Given the description of an element on the screen output the (x, y) to click on. 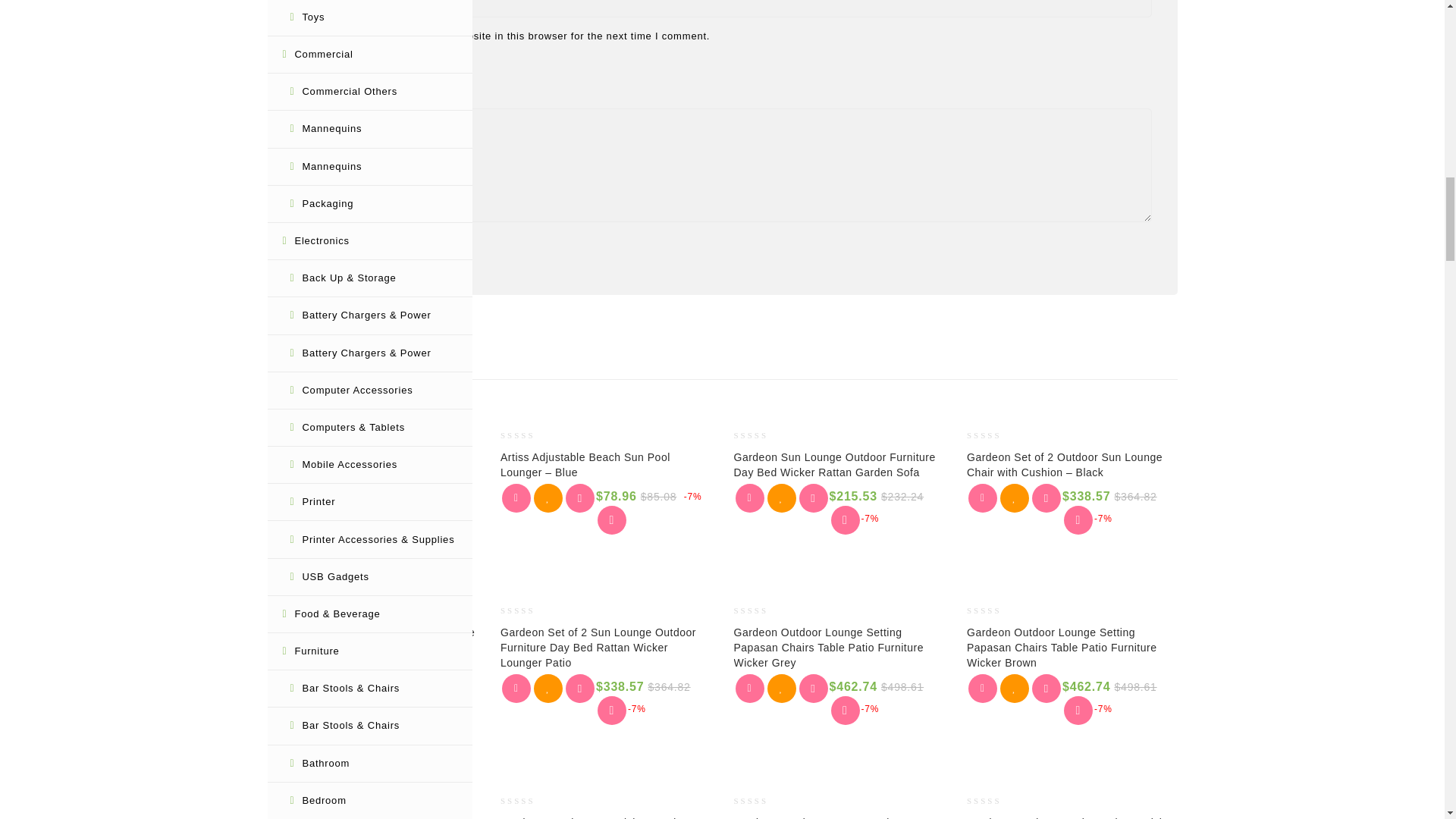
Not yet rated (760, 435)
yes (300, 34)
Not yet rated (526, 435)
Submit (330, 245)
Not yet rated (293, 435)
